Given the description of an element on the screen output the (x, y) to click on. 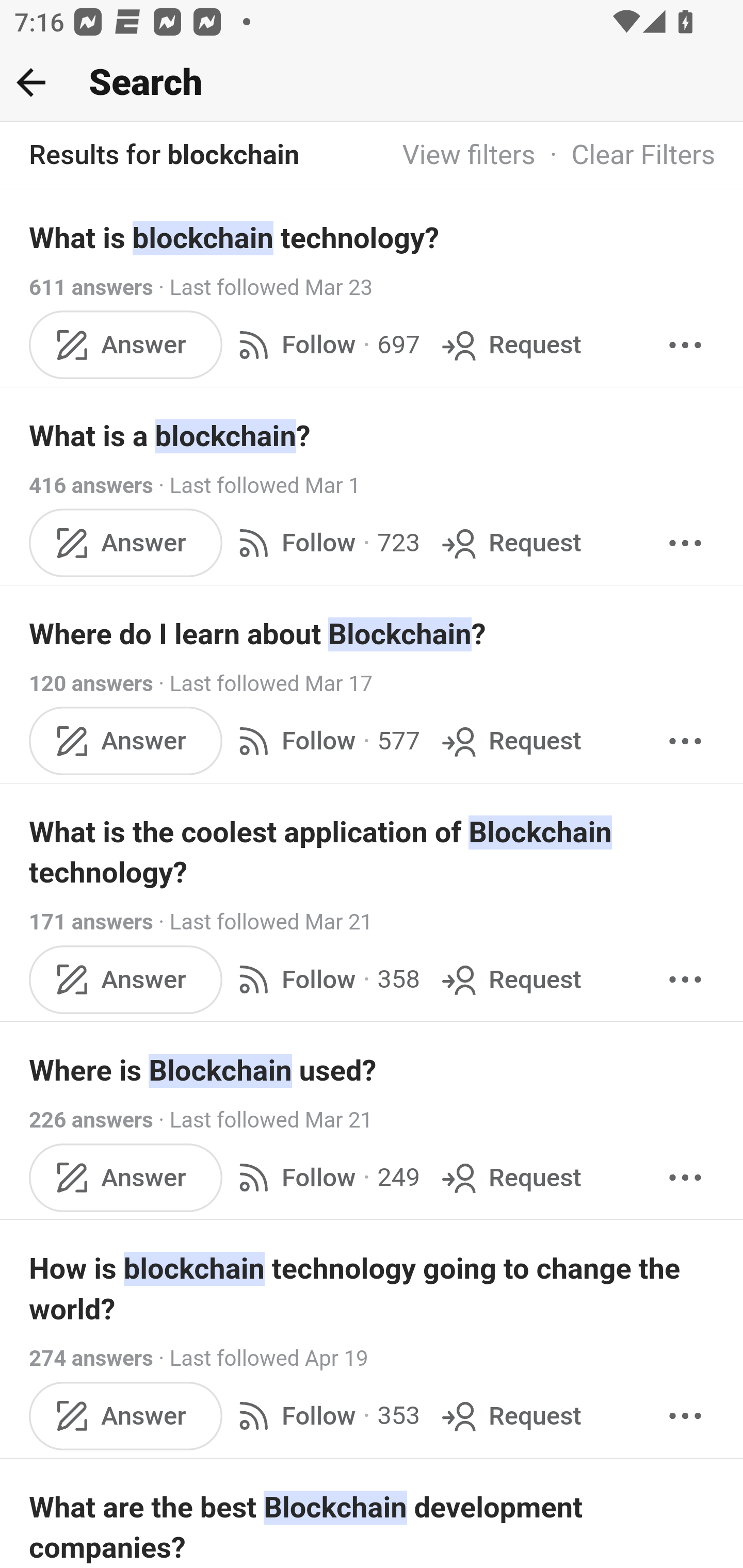
Back Search (371, 82)
Back (30, 82)
View filters (468, 155)
· Clear Filters · Clear Filters (625, 155)
What is blockchain technology? (372, 237)
611 answers 611  answers (90, 287)
Answer (125, 343)
Follow · 697 (324, 343)
Request (509, 343)
More (684, 343)
What is a blockchain? (372, 436)
416 answers 416  answers (90, 484)
Answer (125, 543)
Follow · 723 (324, 543)
Request (509, 543)
More (684, 543)
Where do I learn about Blockchain? (372, 634)
120 answers 120  answers (90, 684)
Answer (125, 741)
Follow · 577 (324, 741)
Request (509, 741)
More (684, 741)
171 answers 171  answers (90, 922)
Answer (125, 979)
Follow · 358 (324, 979)
Request (509, 979)
More (684, 979)
Where is Blockchain used? (372, 1070)
226 answers 226  answers (90, 1120)
Answer (125, 1176)
Follow · 249 (324, 1176)
Request (509, 1176)
More (684, 1176)
274 answers 274  answers (90, 1358)
Answer (125, 1415)
Follow · 353 (324, 1415)
Request (509, 1415)
More (684, 1415)
